Given the description of an element on the screen output the (x, y) to click on. 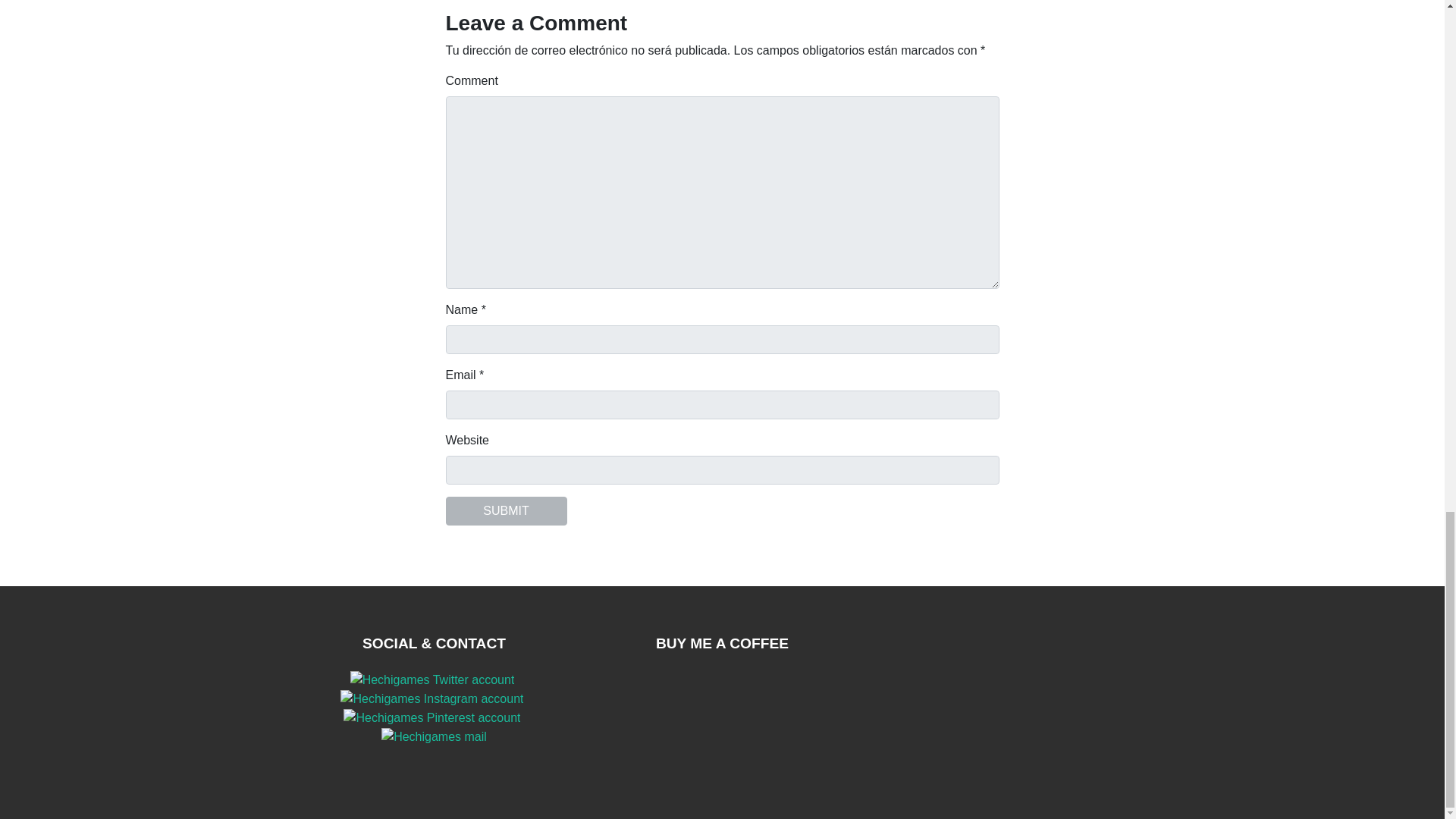
Submit (506, 510)
Submit (506, 510)
